Given the description of an element on the screen output the (x, y) to click on. 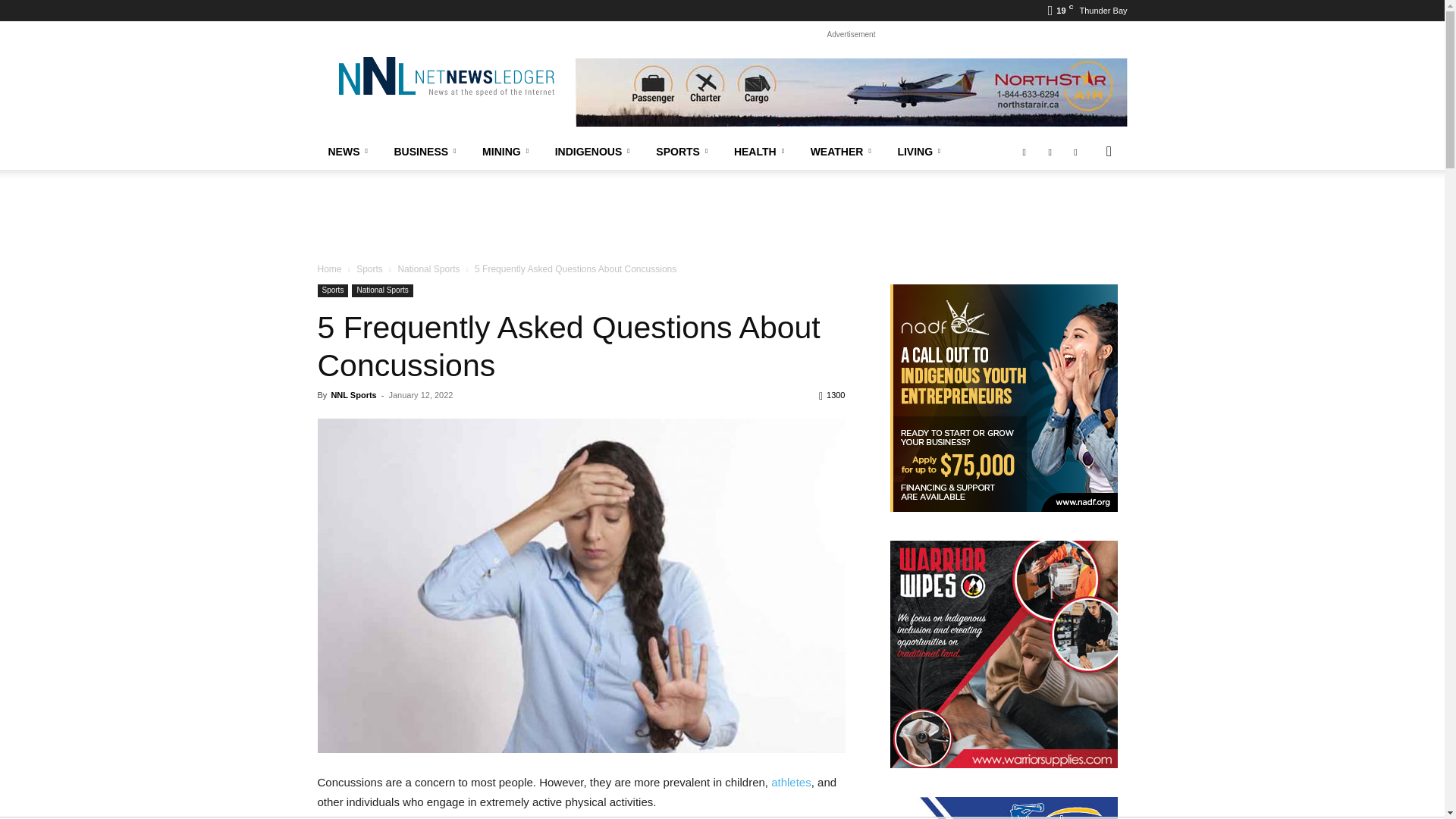
North Star Air (850, 92)
View all posts in Sports (369, 268)
View all posts in National Sports (428, 268)
NetNewsLedger (445, 76)
